Given the description of an element on the screen output the (x, y) to click on. 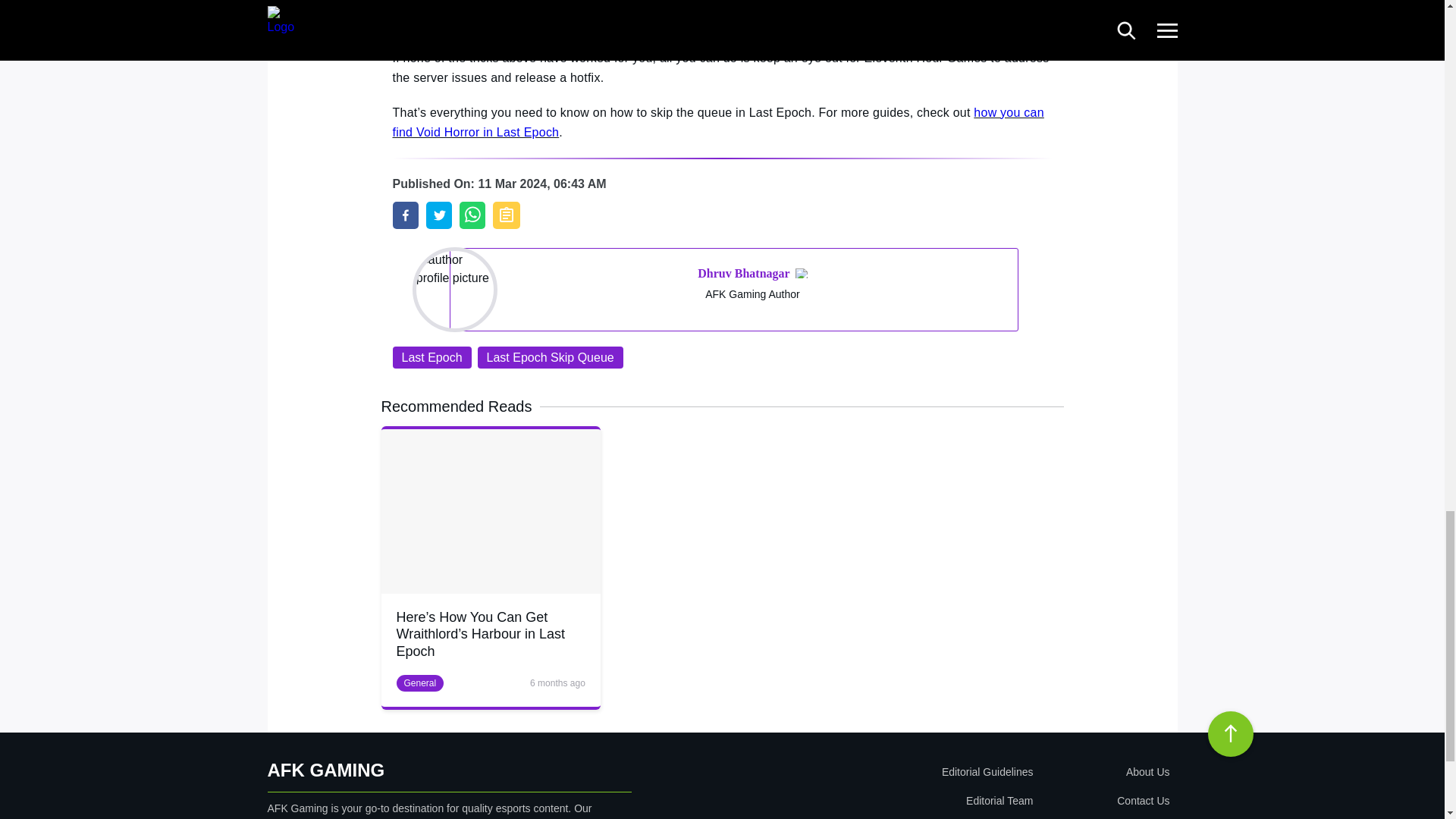
Last Epoch (432, 357)
how you can find Void Horror in Last Epoch (718, 122)
Last Epoch Skip Queue (550, 357)
Editorial Guidelines (899, 771)
Editorial Team (899, 800)
Dhruv Bhatnagar (743, 273)
Contact Us (1105, 800)
About Us (1105, 771)
